Given the description of an element on the screen output the (x, y) to click on. 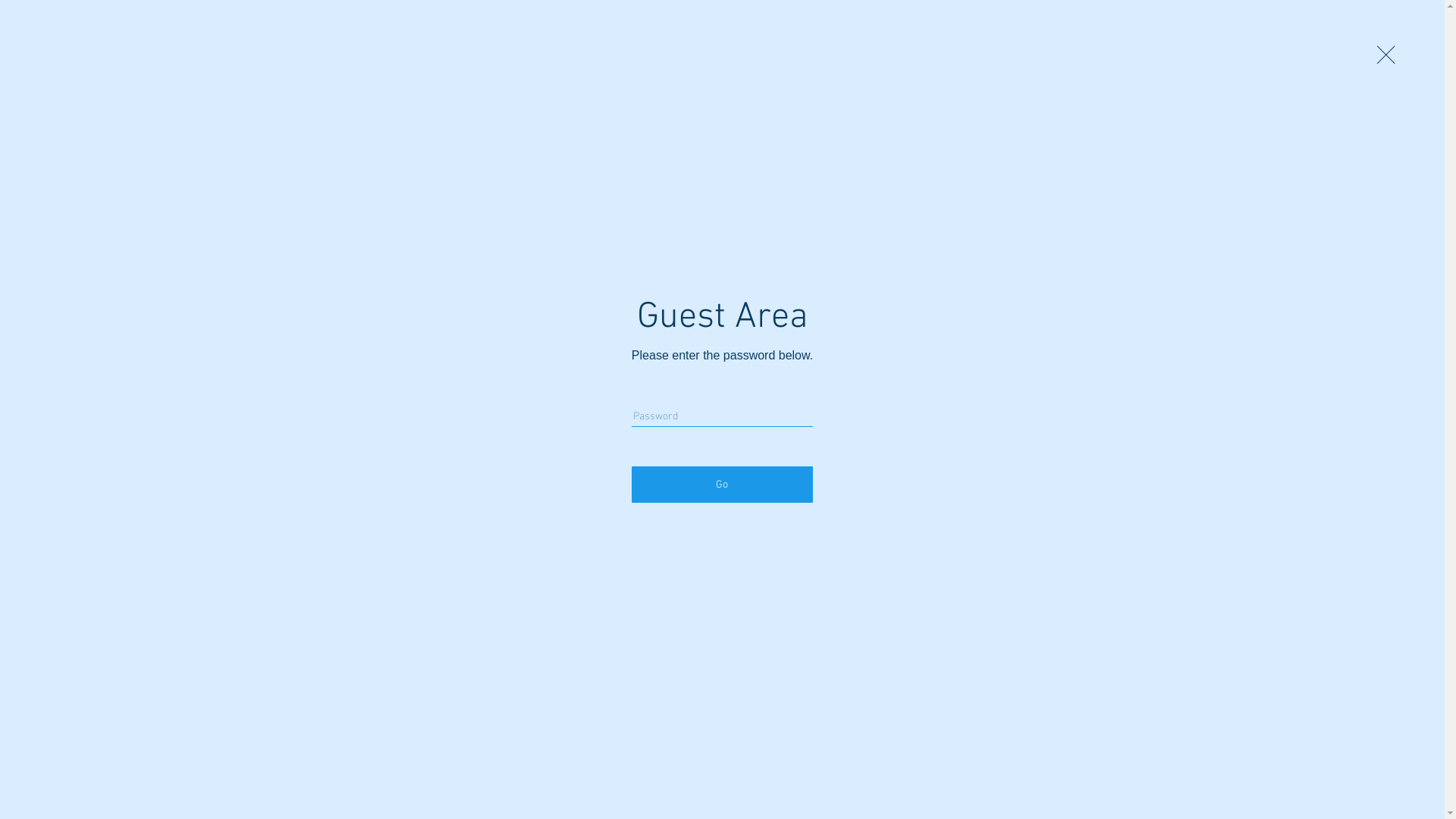
Go Element type: text (721, 484)
